Given the description of an element on the screen output the (x, y) to click on. 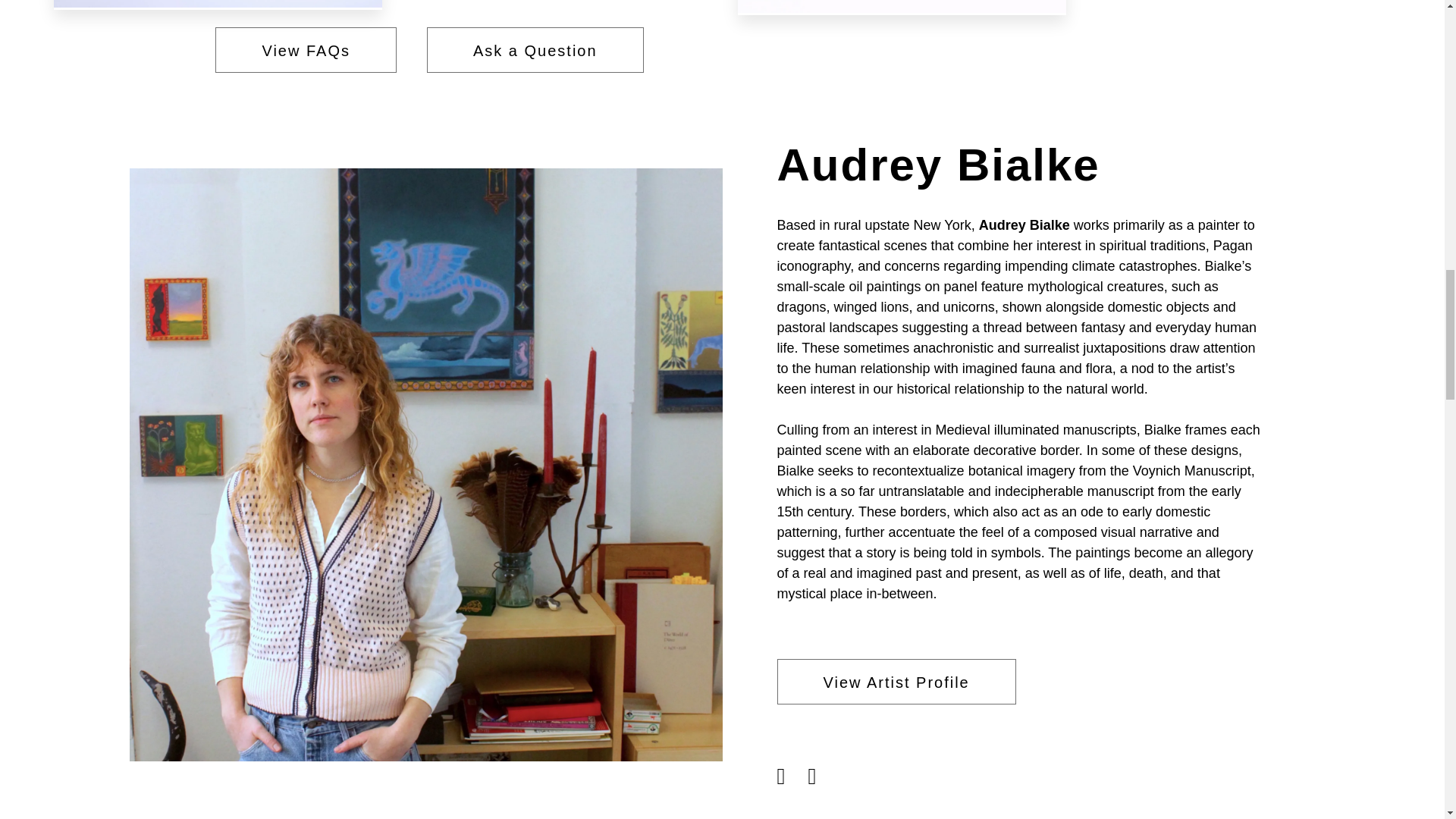
Ask a Question (534, 49)
View Artist Profile (895, 681)
View FAQs (305, 49)
